Given the description of an element on the screen output the (x, y) to click on. 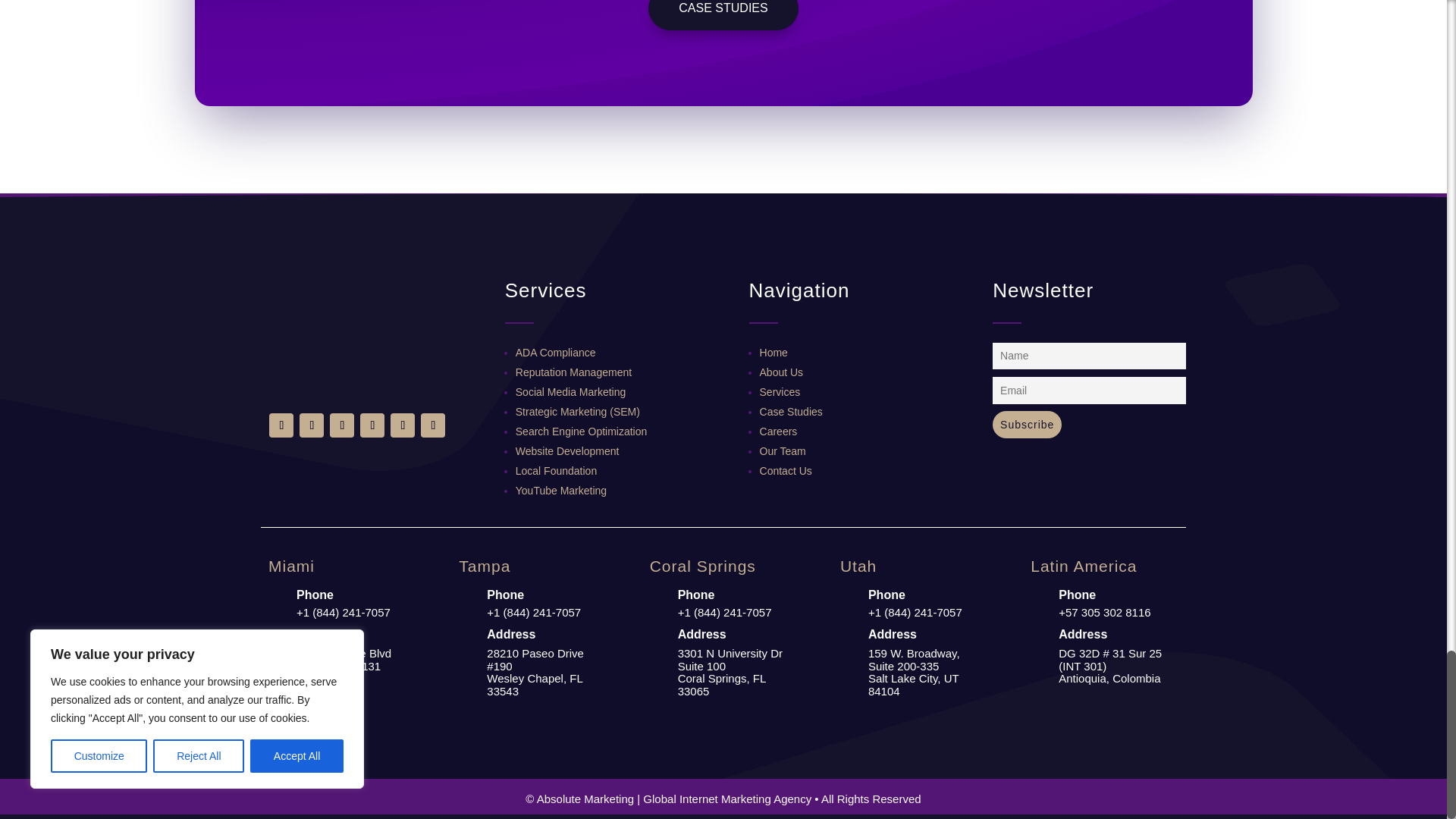
Follow on TikTok (432, 425)
Follow on WhatsApp (402, 425)
Follow on Facebook (281, 425)
Follow on LinkedIn (311, 425)
Follow on Youtube (371, 425)
absolute-logo-white (356, 334)
Follow on Instagram (341, 425)
Subscribe (1026, 424)
